Given the description of an element on the screen output the (x, y) to click on. 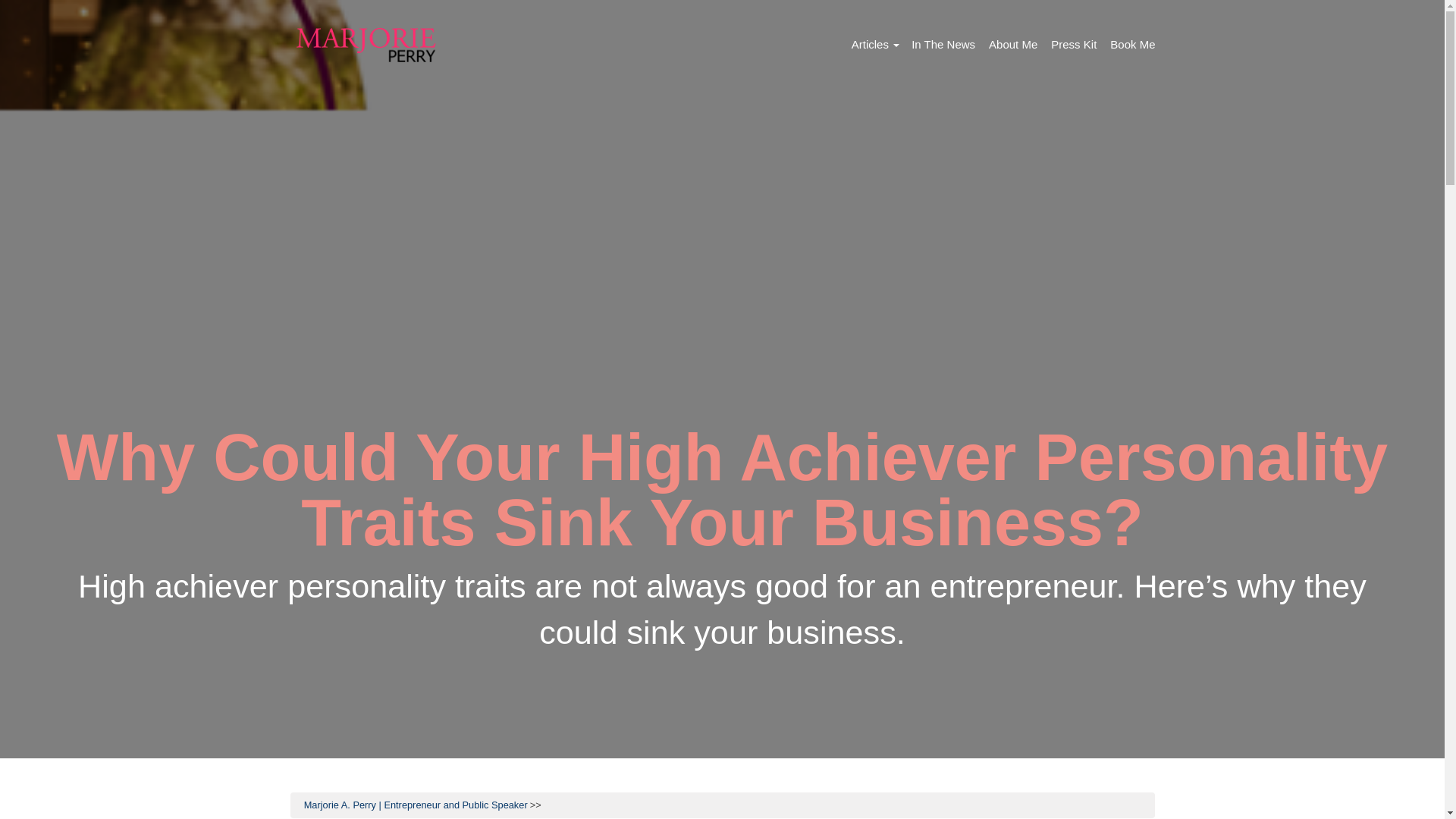
About Me (1013, 44)
Articles (875, 44)
Book Me (1132, 44)
Press Kit (1073, 44)
In The News (943, 44)
